Given the description of an element on the screen output the (x, y) to click on. 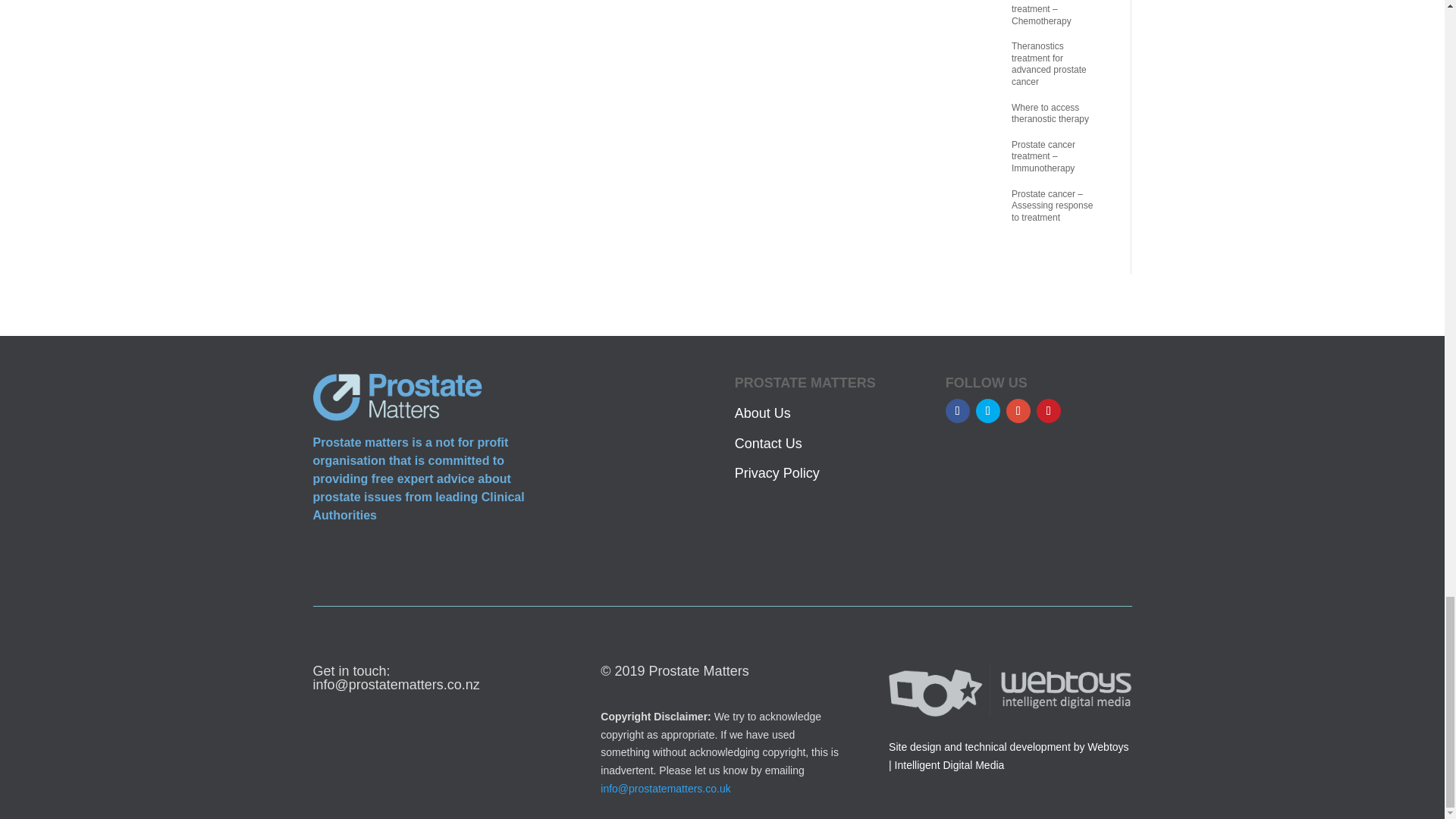
Pinterest (1048, 410)
Twitter (987, 410)
Facebook (956, 410)
